Given the description of an element on the screen output the (x, y) to click on. 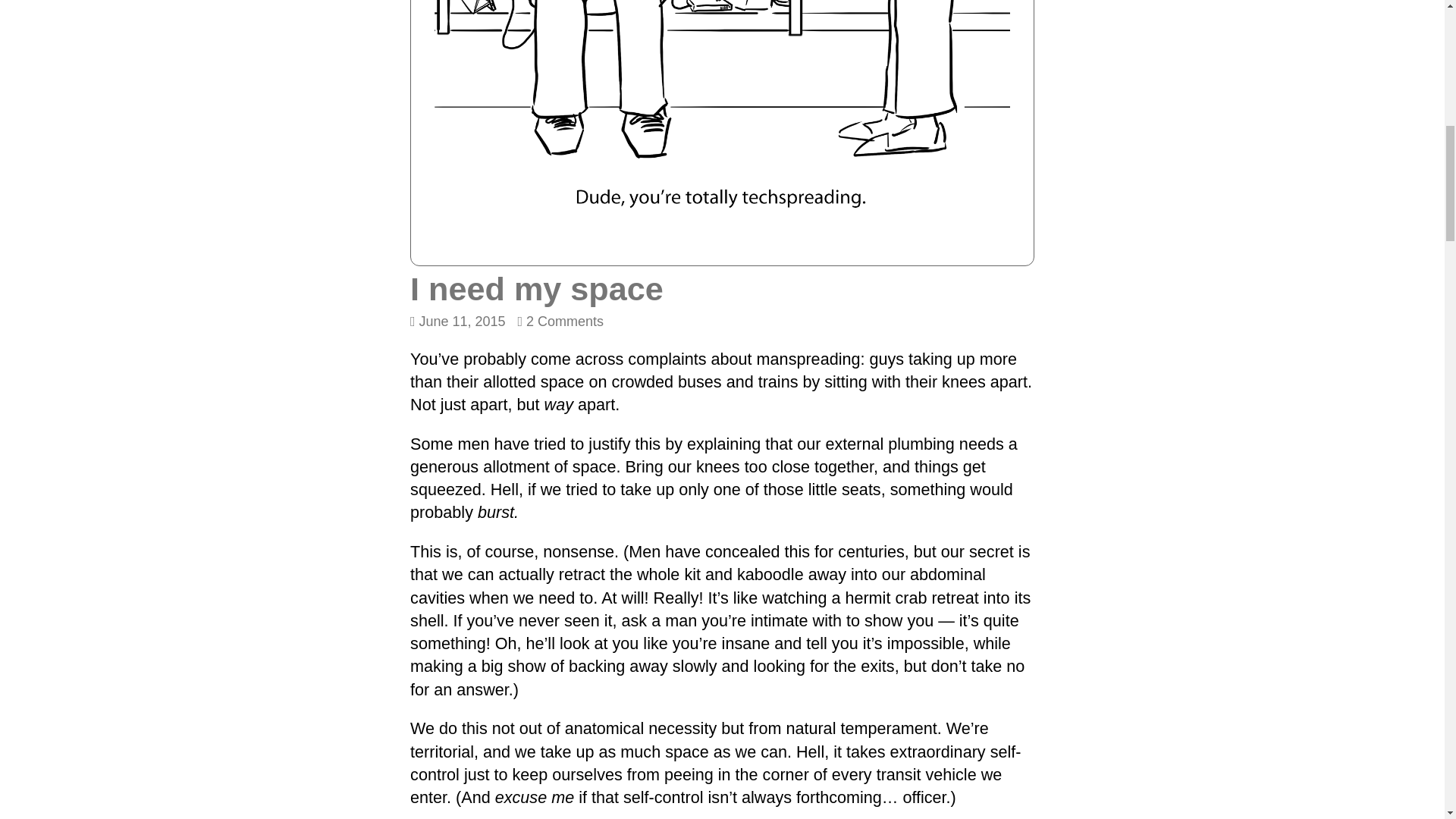
I need my space (457, 321)
